Given the description of an element on the screen output the (x, y) to click on. 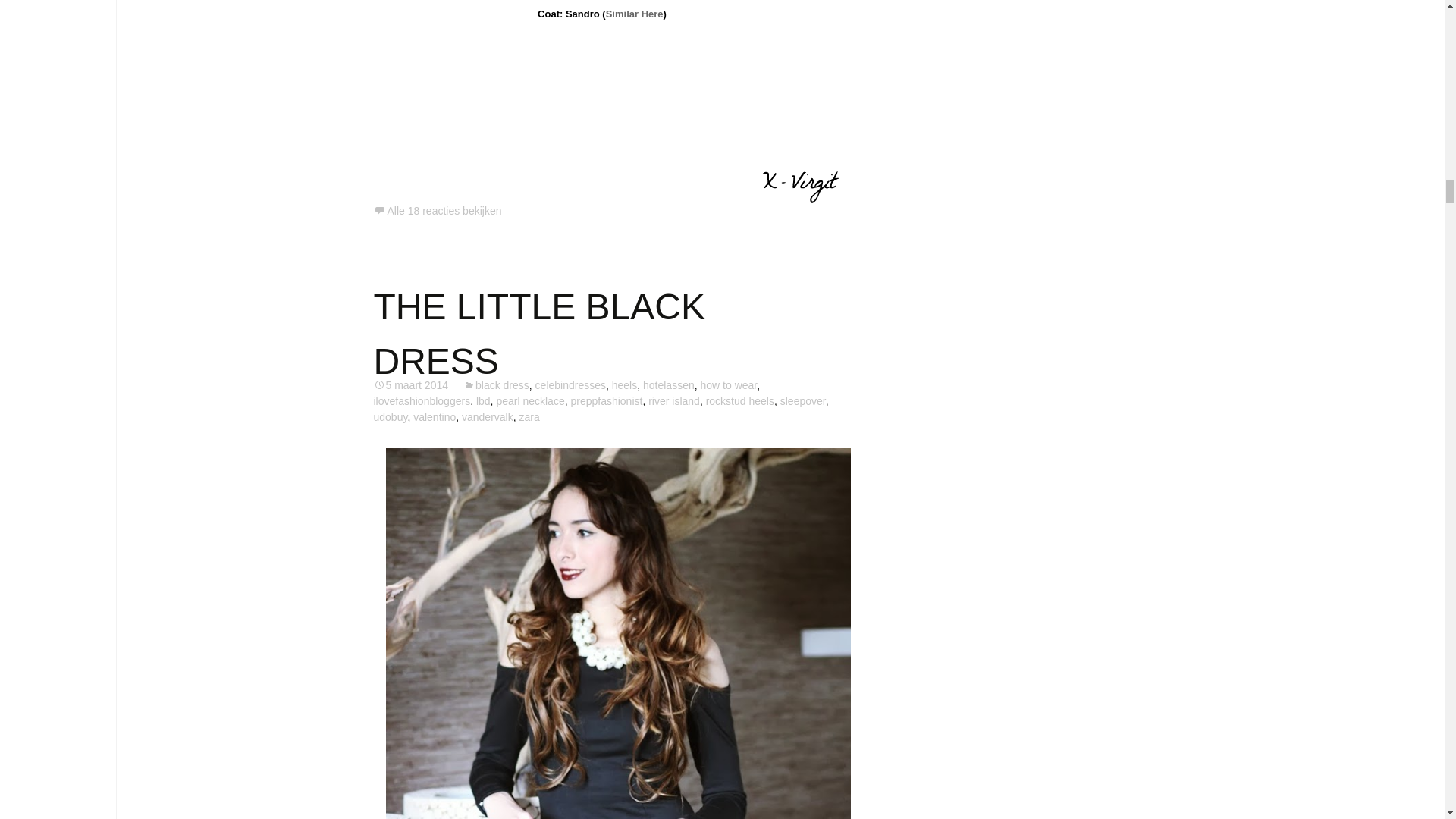
Permalink naar The Little black dress (410, 385)
